Given the description of an element on the screen output the (x, y) to click on. 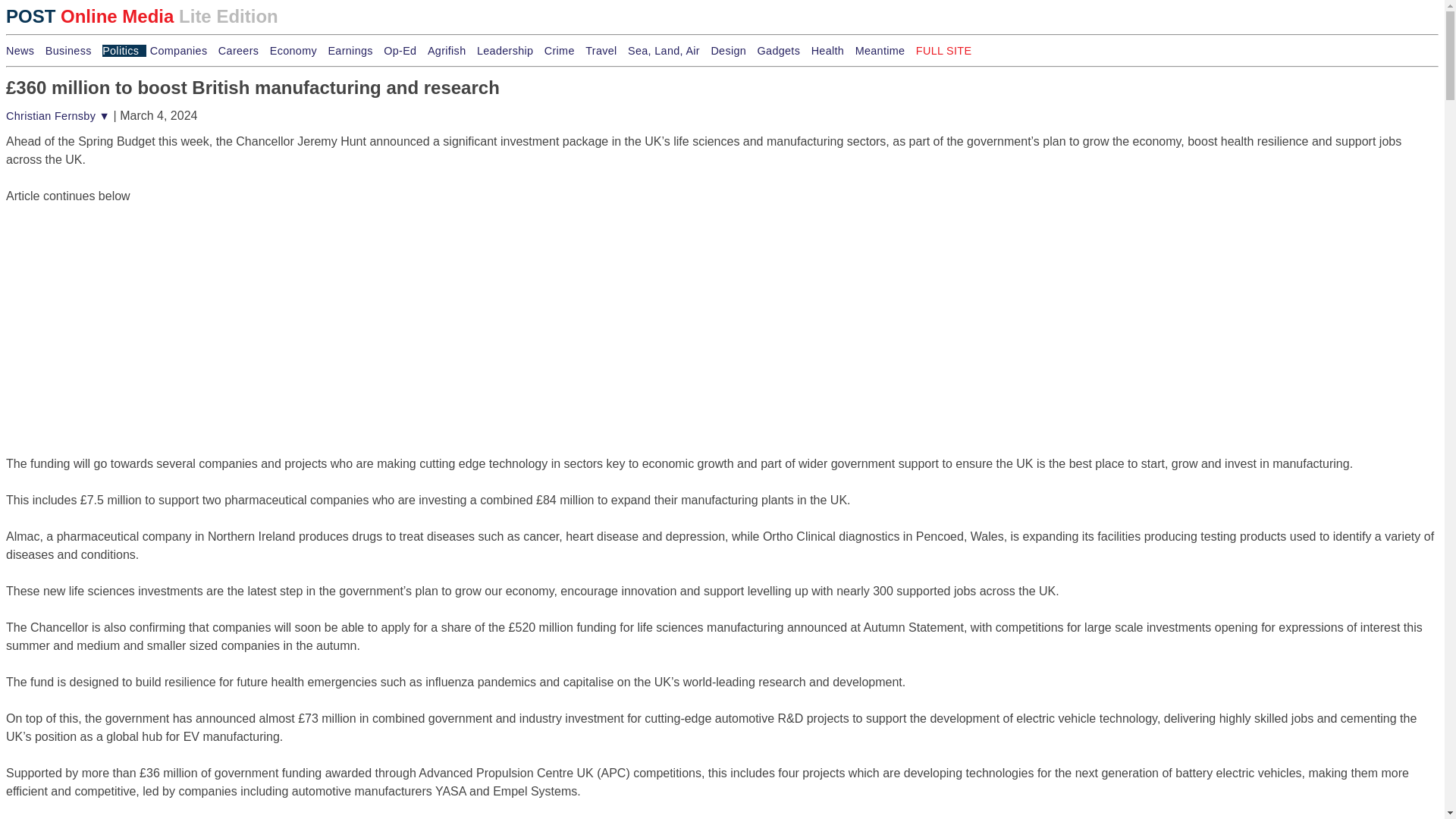
Leadership (508, 50)
Advertisement (118, 299)
Travel (604, 50)
Companies (182, 50)
Crime (563, 50)
Business (72, 50)
FULL SITE (943, 50)
Politics (124, 50)
Gadgets (782, 50)
Meantime (884, 50)
